Given the description of an element on the screen output the (x, y) to click on. 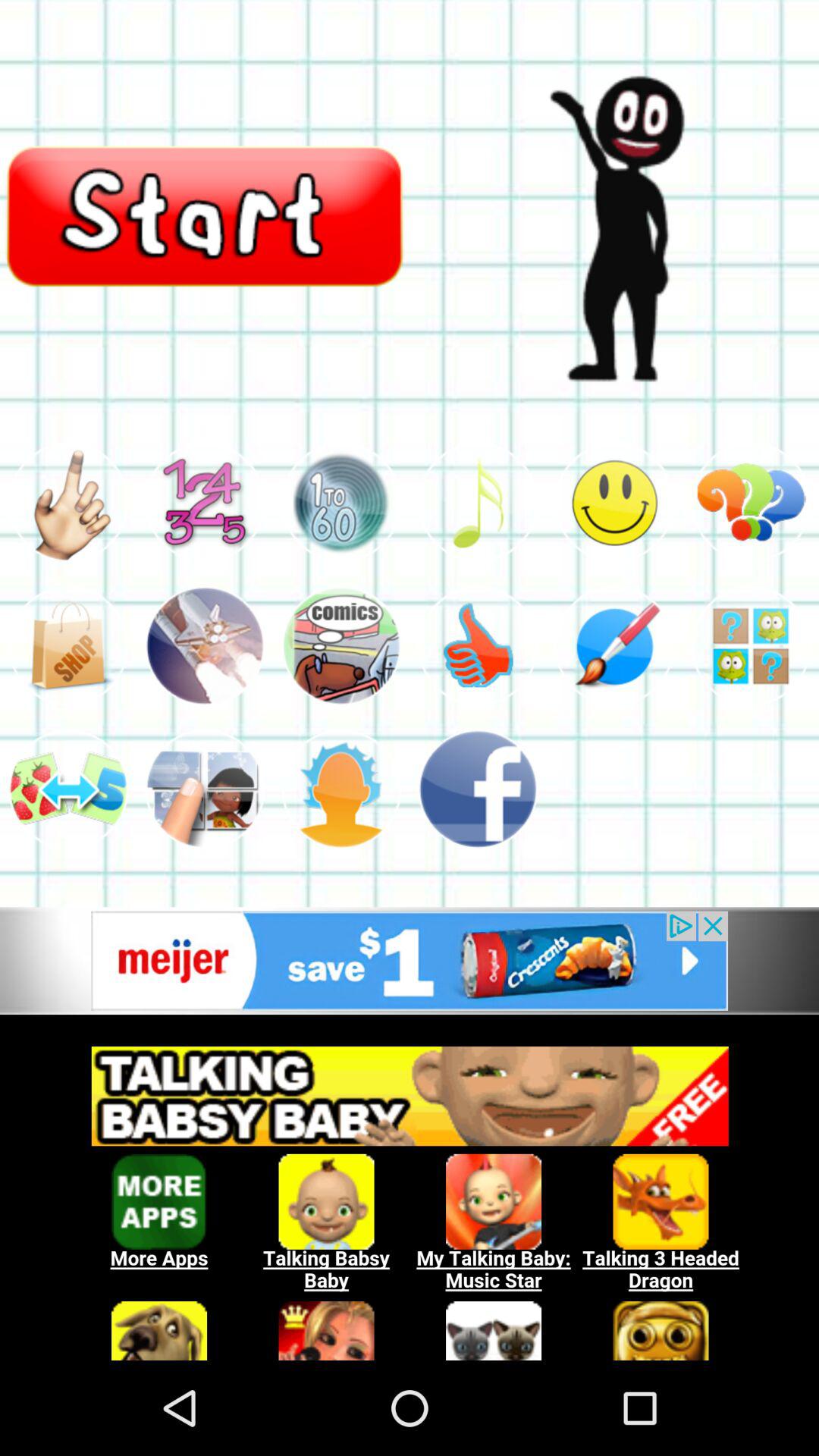
view advertisement (477, 789)
